Given the description of an element on the screen output the (x, y) to click on. 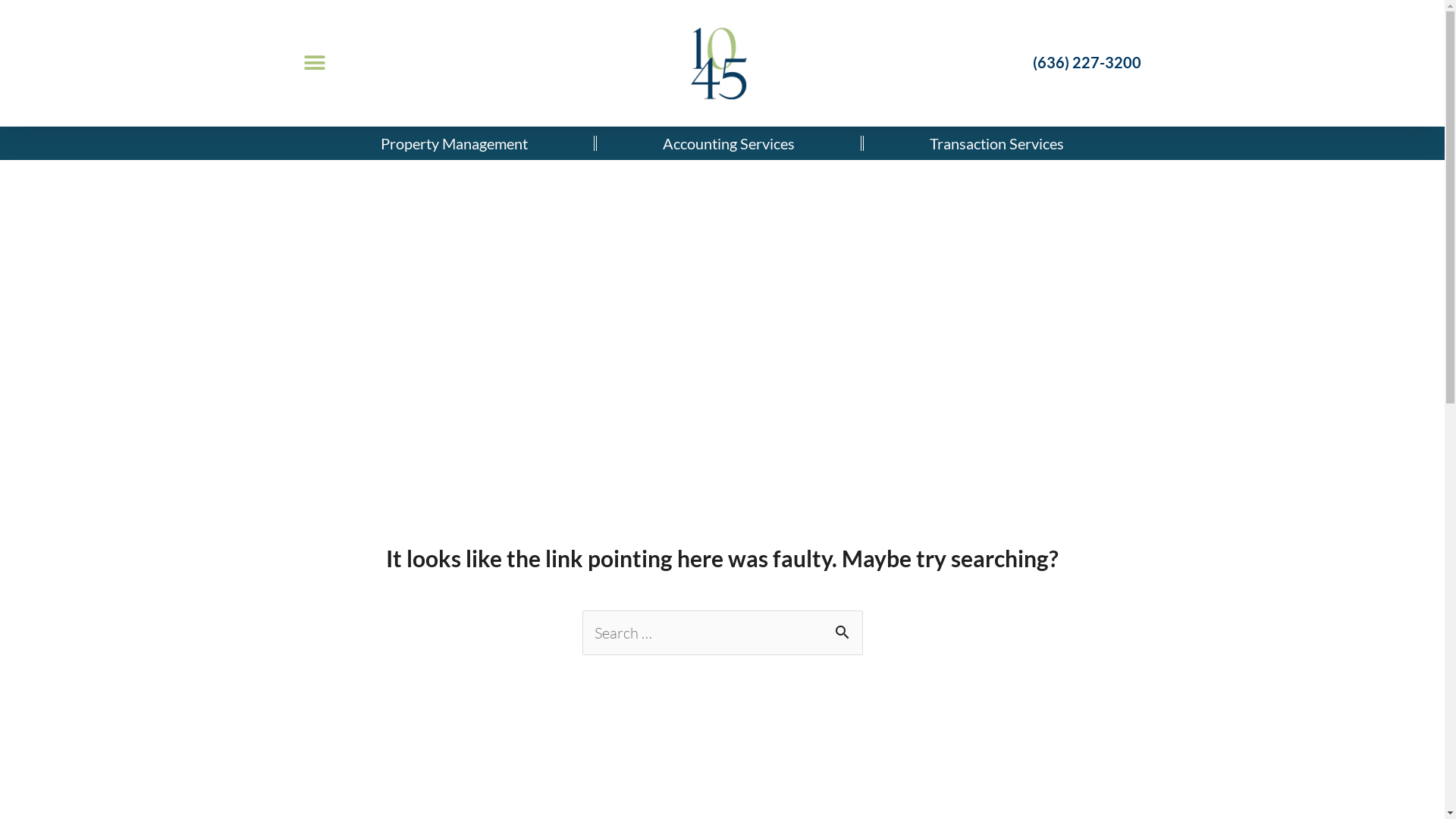
Search Element type: text (845, 626)
Transaction Services Element type: text (996, 143)
Property Management Element type: text (453, 143)
Accounting Services Element type: text (728, 143)
(636) 227-3200 Element type: text (1086, 62)
